Given the description of an element on the screen output the (x, y) to click on. 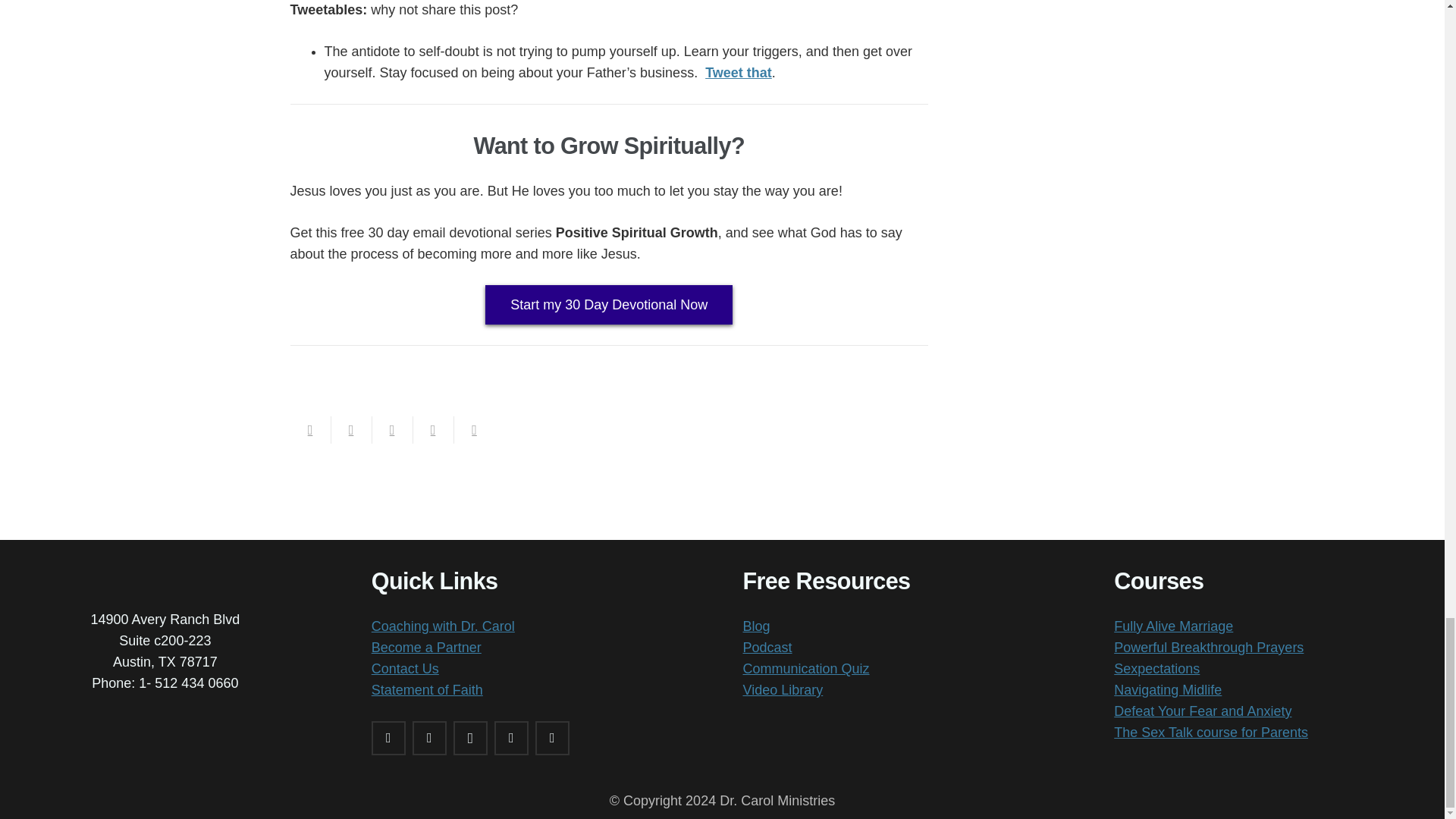
Start my 30 Day Devotional Now (608, 304)
iTunes (511, 738)
Twitter (429, 738)
Tweet that (737, 72)
Share this (432, 429)
Instagram (469, 738)
Facebook (388, 738)
Share this (350, 429)
Tweet this (391, 429)
YouTube (552, 738)
Pin this (473, 429)
Email this (309, 429)
